Given the description of an element on the screen output the (x, y) to click on. 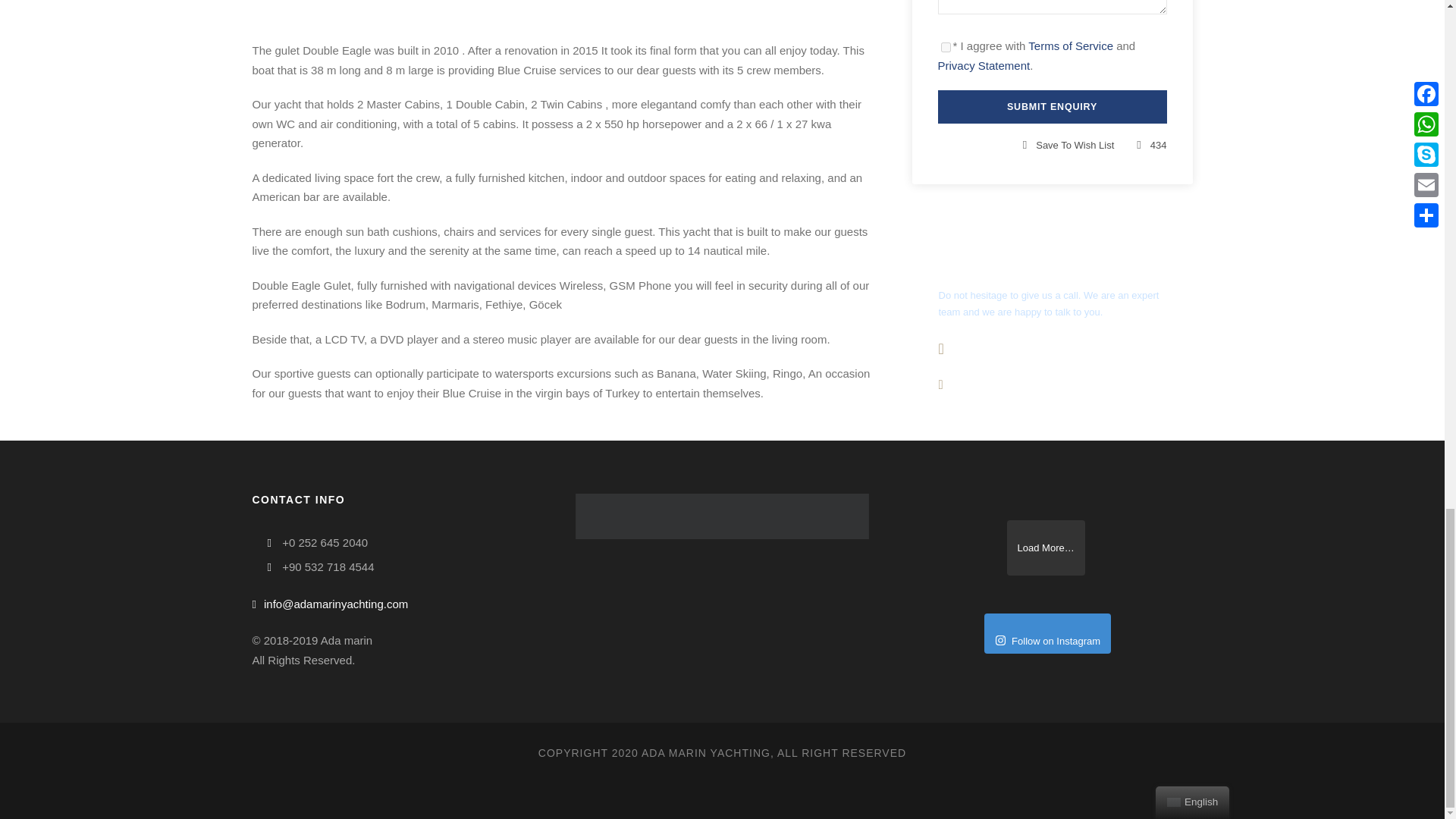
Privacy Statement (983, 65)
Terms of Service (1070, 45)
Submit Enquiry (1051, 106)
on (945, 47)
Submit Enquiry (1051, 106)
